Given the description of an element on the screen output the (x, y) to click on. 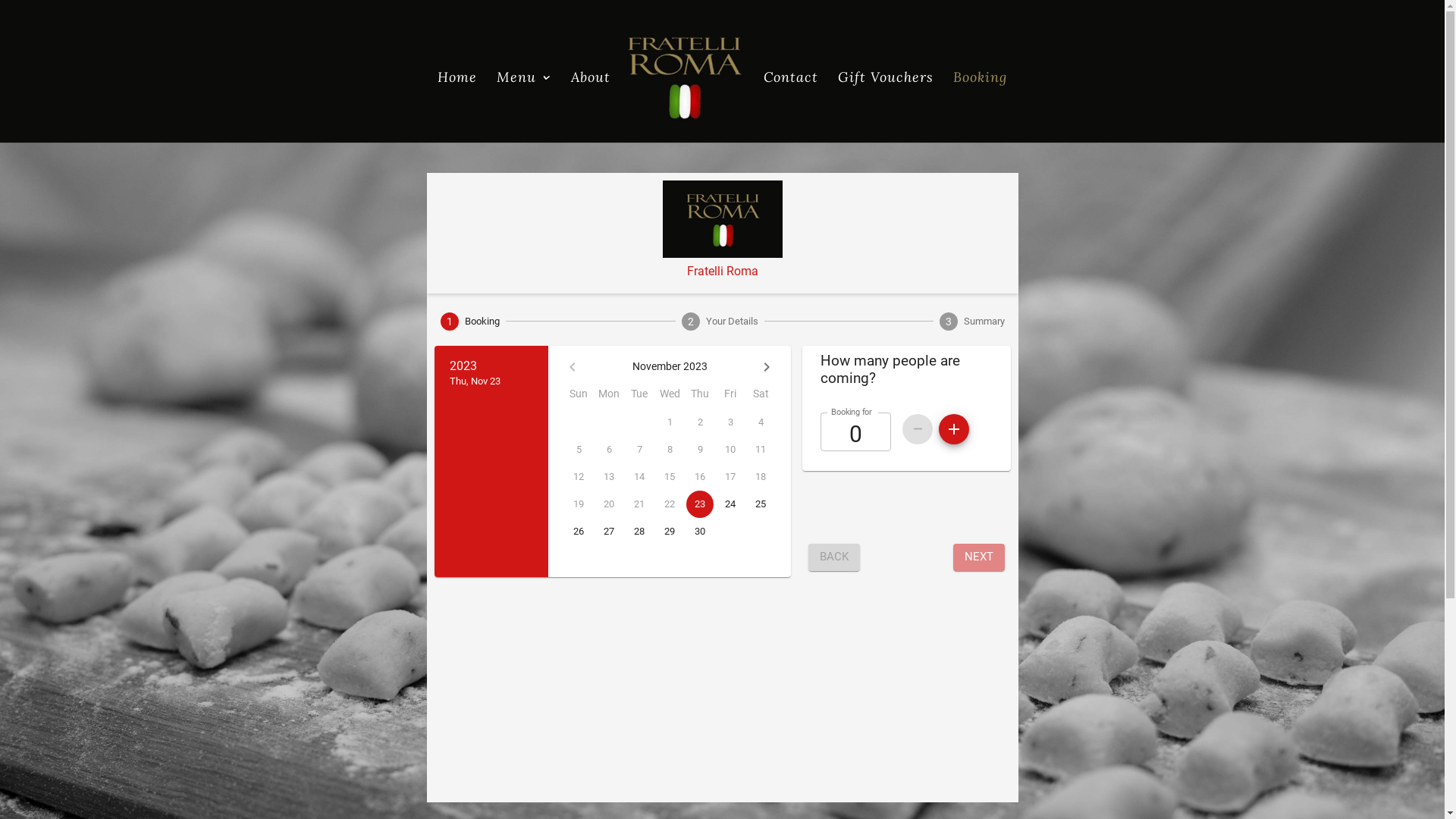
Menu Element type: text (523, 107)
About Element type: text (590, 107)
Contact Element type: text (790, 107)
Gift Vouchers Element type: text (885, 107)
Home Element type: text (456, 107)
Booking Element type: text (980, 107)
